Given the description of an element on the screen output the (x, y) to click on. 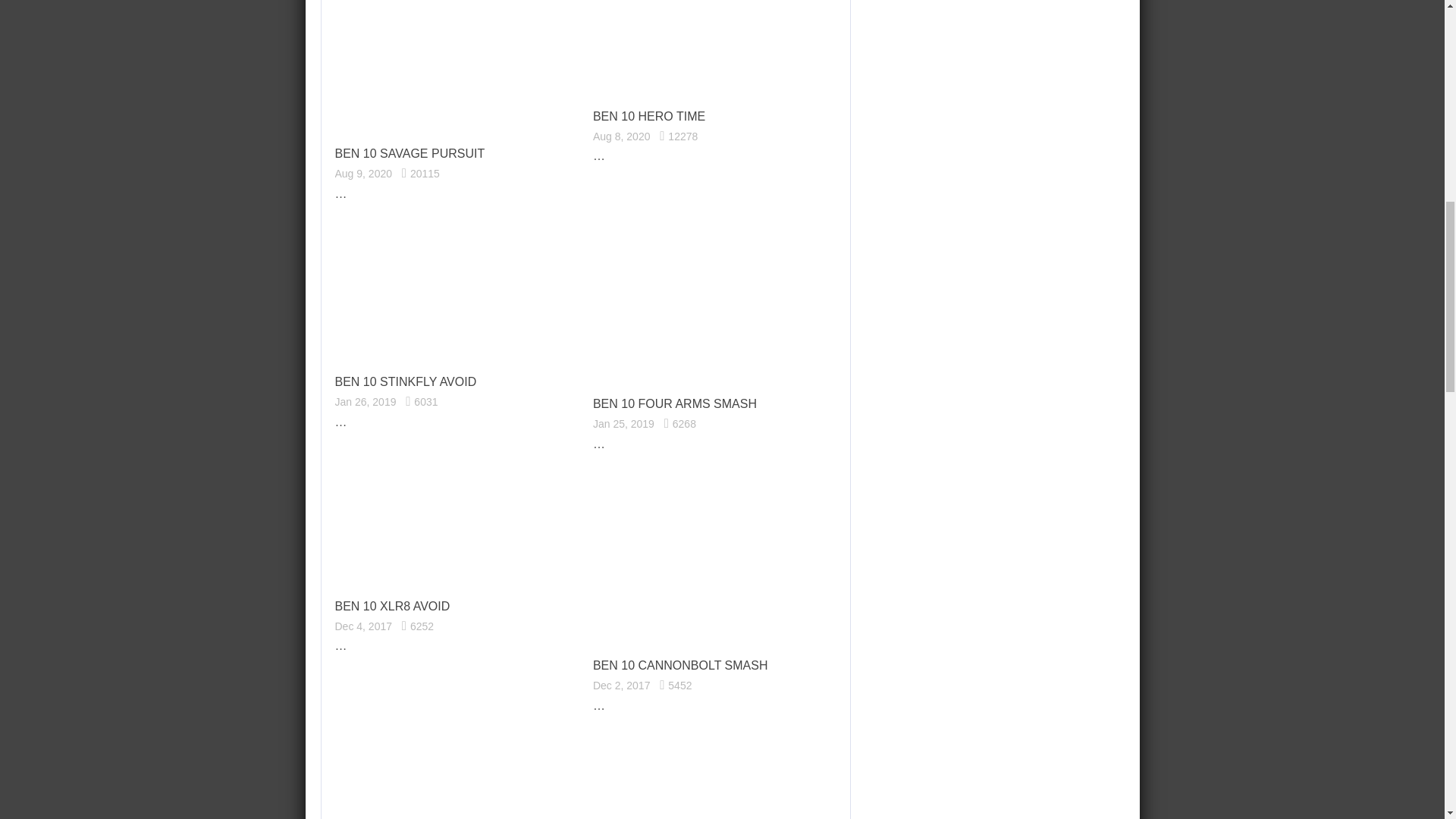
Ben 10 Stinkfly Avoid (405, 381)
Ben 10 Savage Pursuit (409, 153)
BEN 10 XLR8 AVOID (391, 606)
Ben 10 Hero Time (648, 116)
BEN 10 CANNONBOLT SMASH (680, 665)
Ben 10 Cannonbolt Smash (680, 665)
BEN 10 HERO TIME (648, 116)
BEN 10 FOUR ARMS SMASH (674, 403)
BEN 10 SAVAGE PURSUIT (409, 153)
Ben 10 Four Arms Smash (674, 403)
